Given the description of an element on the screen output the (x, y) to click on. 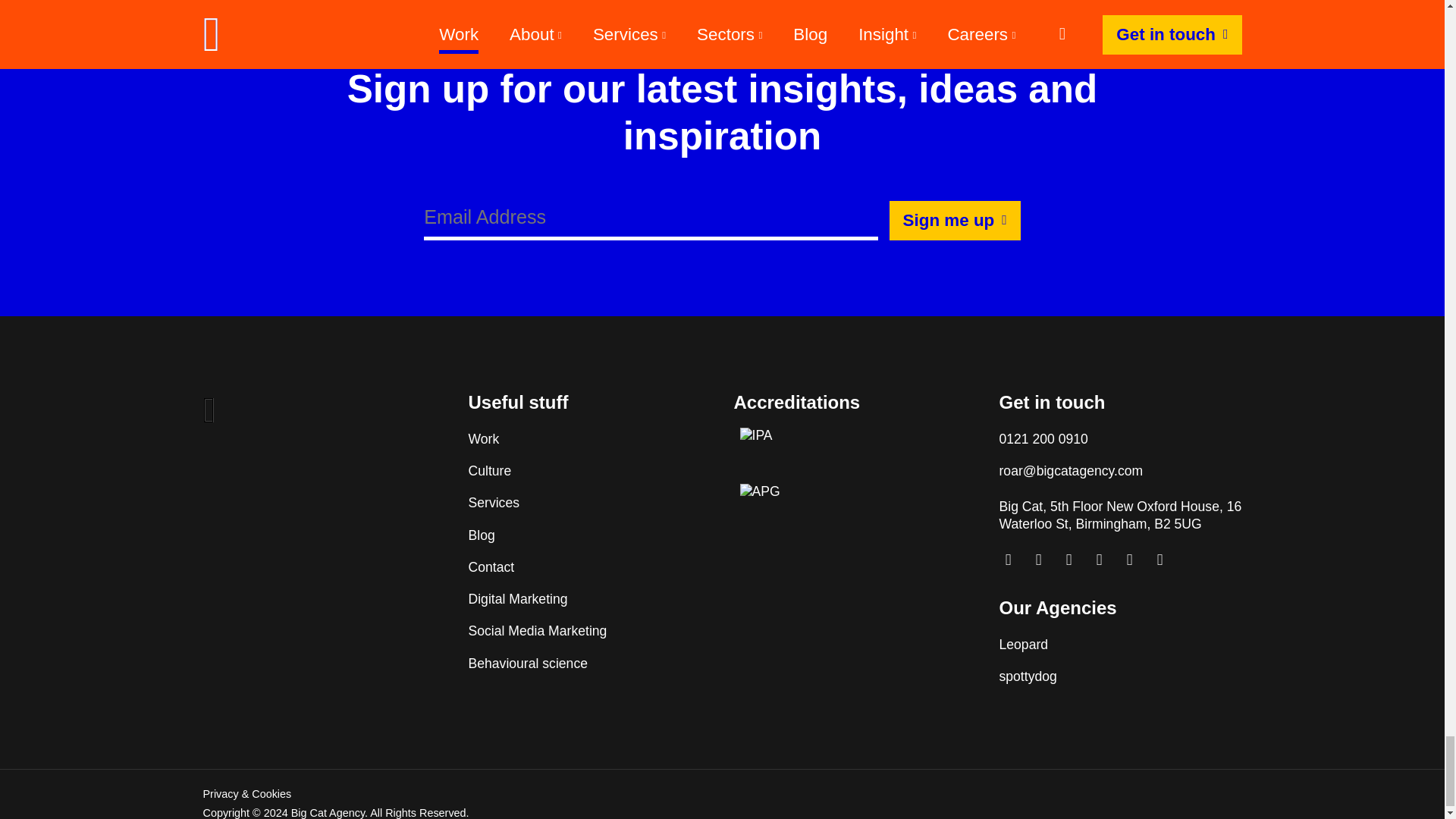
Twitter (1129, 559)
TikTok (1099, 559)
Facebook (1159, 559)
Instagram (1007, 559)
Vimeo (1038, 559)
LinkedIn (1069, 559)
